Given the description of an element on the screen output the (x, y) to click on. 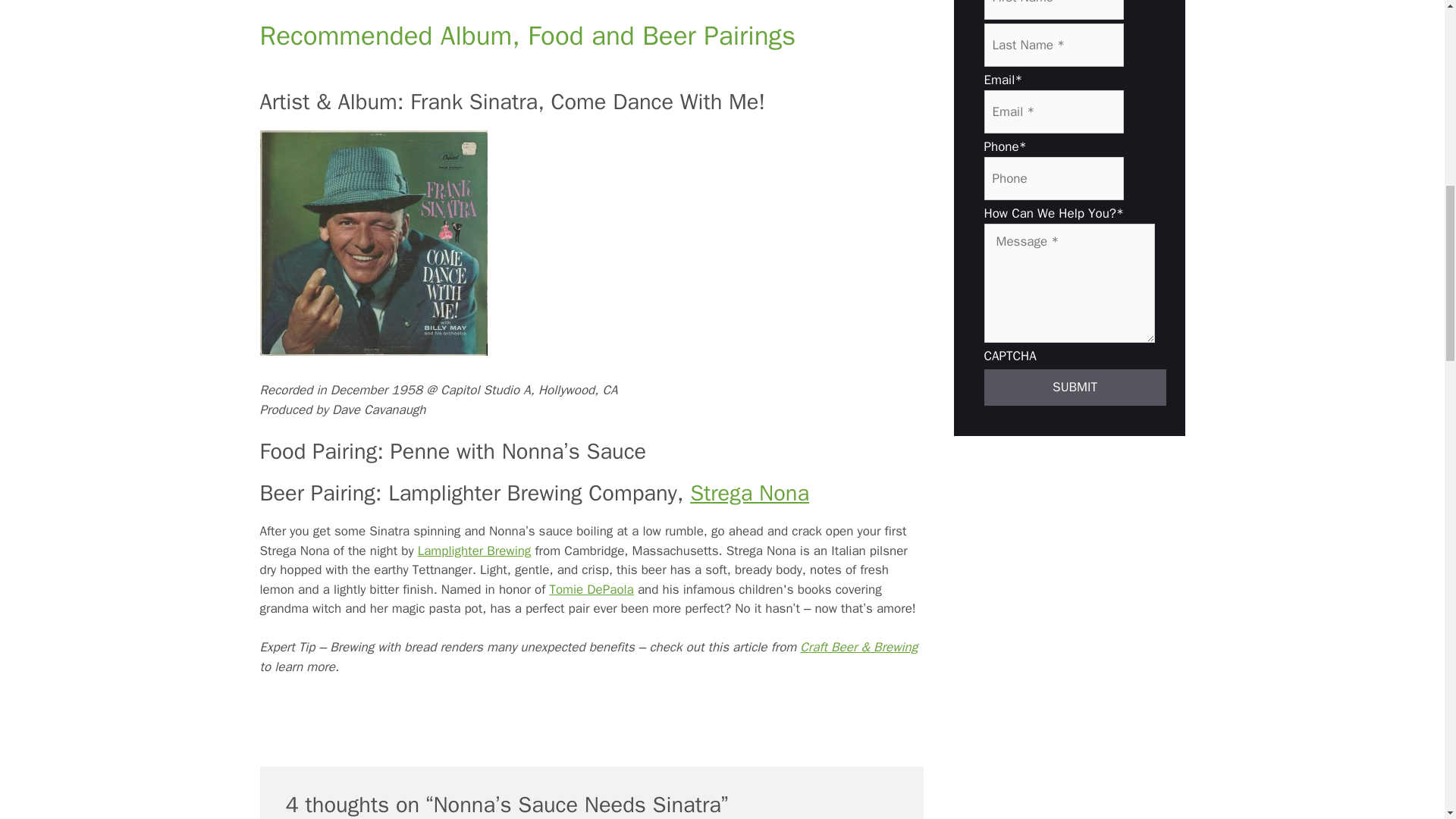
Tomie DePaola (590, 589)
Strega Nona (749, 492)
Submit (1075, 387)
Submit (1075, 387)
Scroll back to top (1406, 720)
Lamplighter Brewing (474, 550)
